Given the description of an element on the screen output the (x, y) to click on. 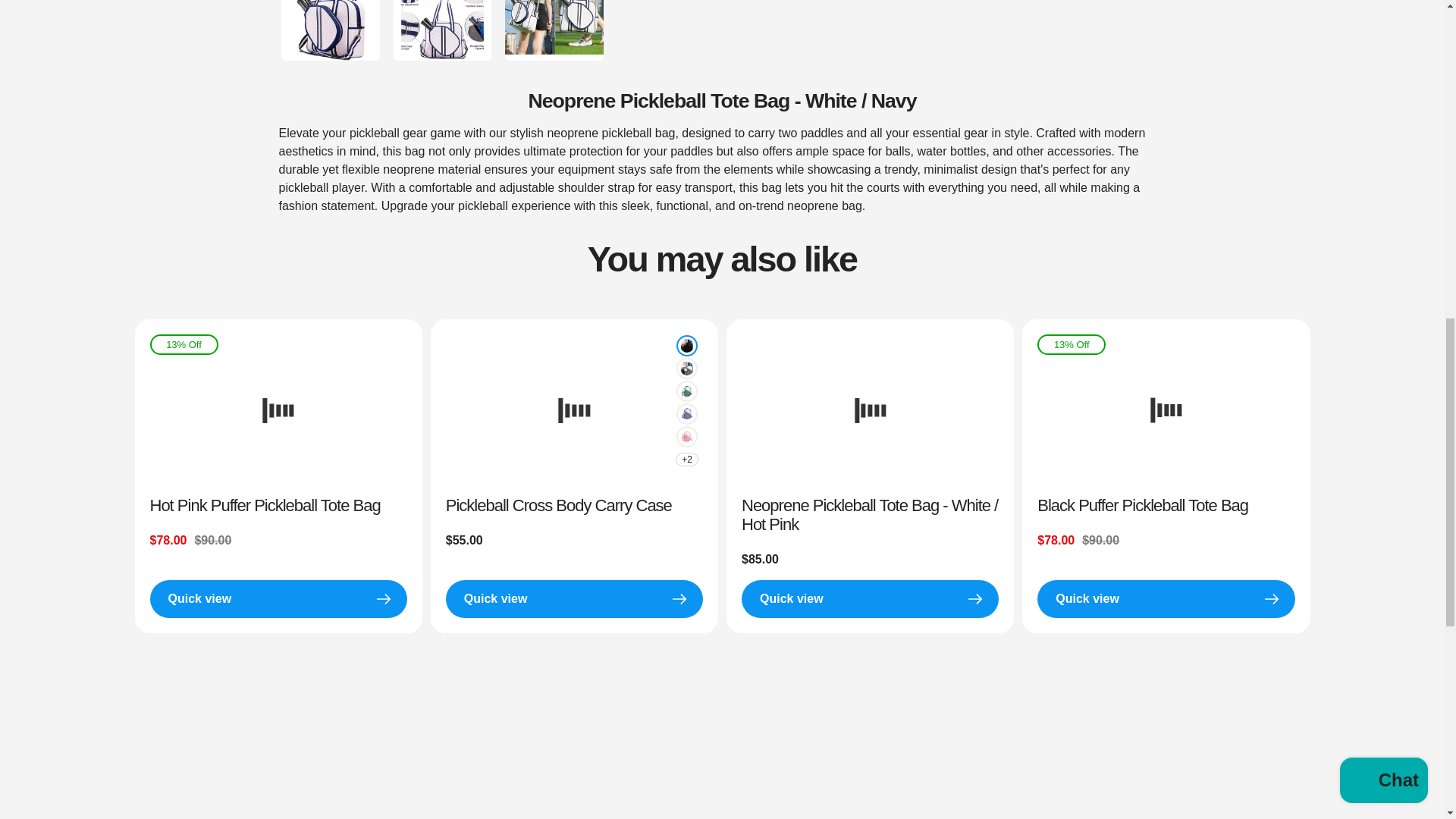
Pink (686, 436)
Green (686, 391)
Blue (686, 413)
All Black (686, 345)
